Given the description of an element on the screen output the (x, y) to click on. 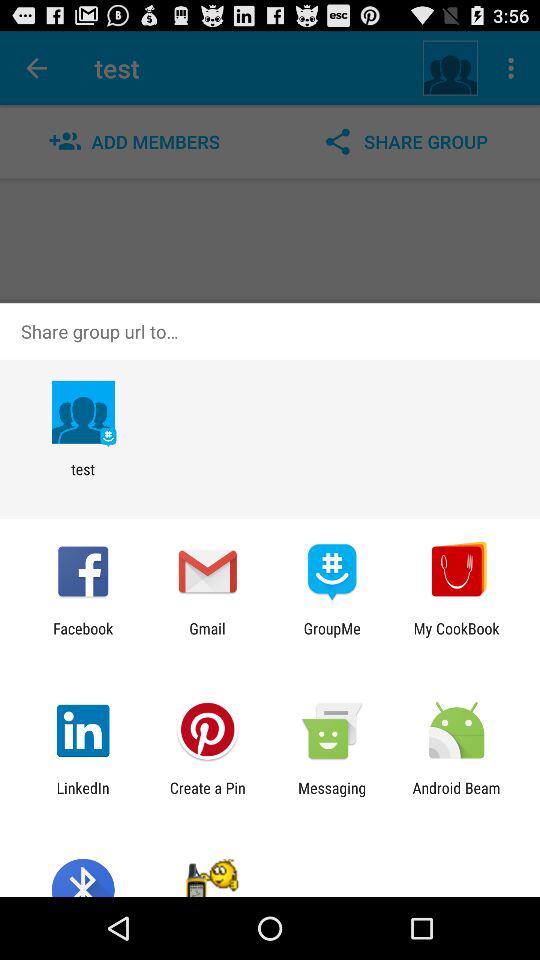
turn off linkedin app (82, 796)
